Given the description of an element on the screen output the (x, y) to click on. 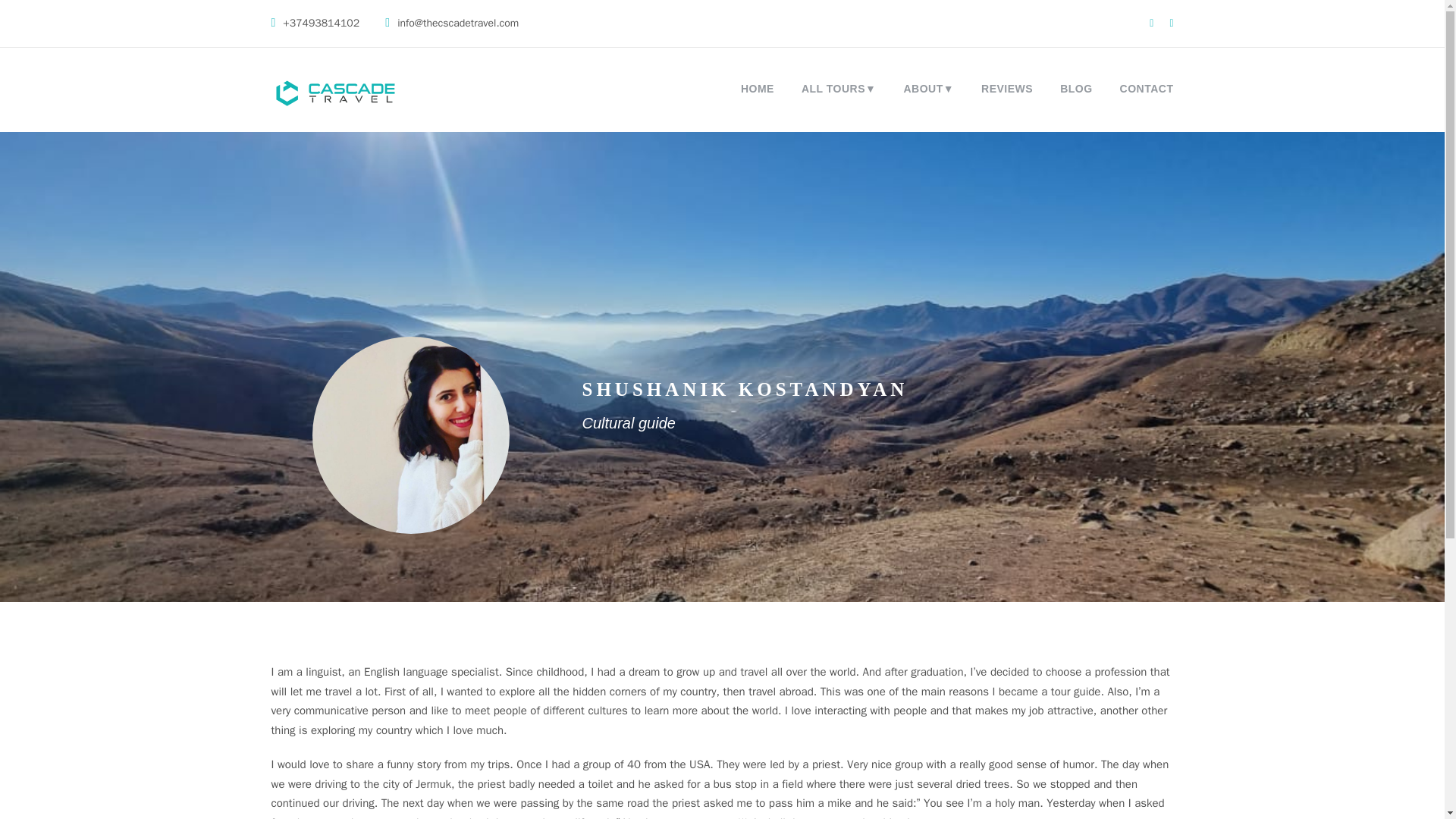
BLOG (1075, 92)
REVIEWS (1006, 92)
HOME (757, 92)
Sushanik (411, 434)
CT fin logo-04 (337, 93)
